Given the description of an element on the screen output the (x, y) to click on. 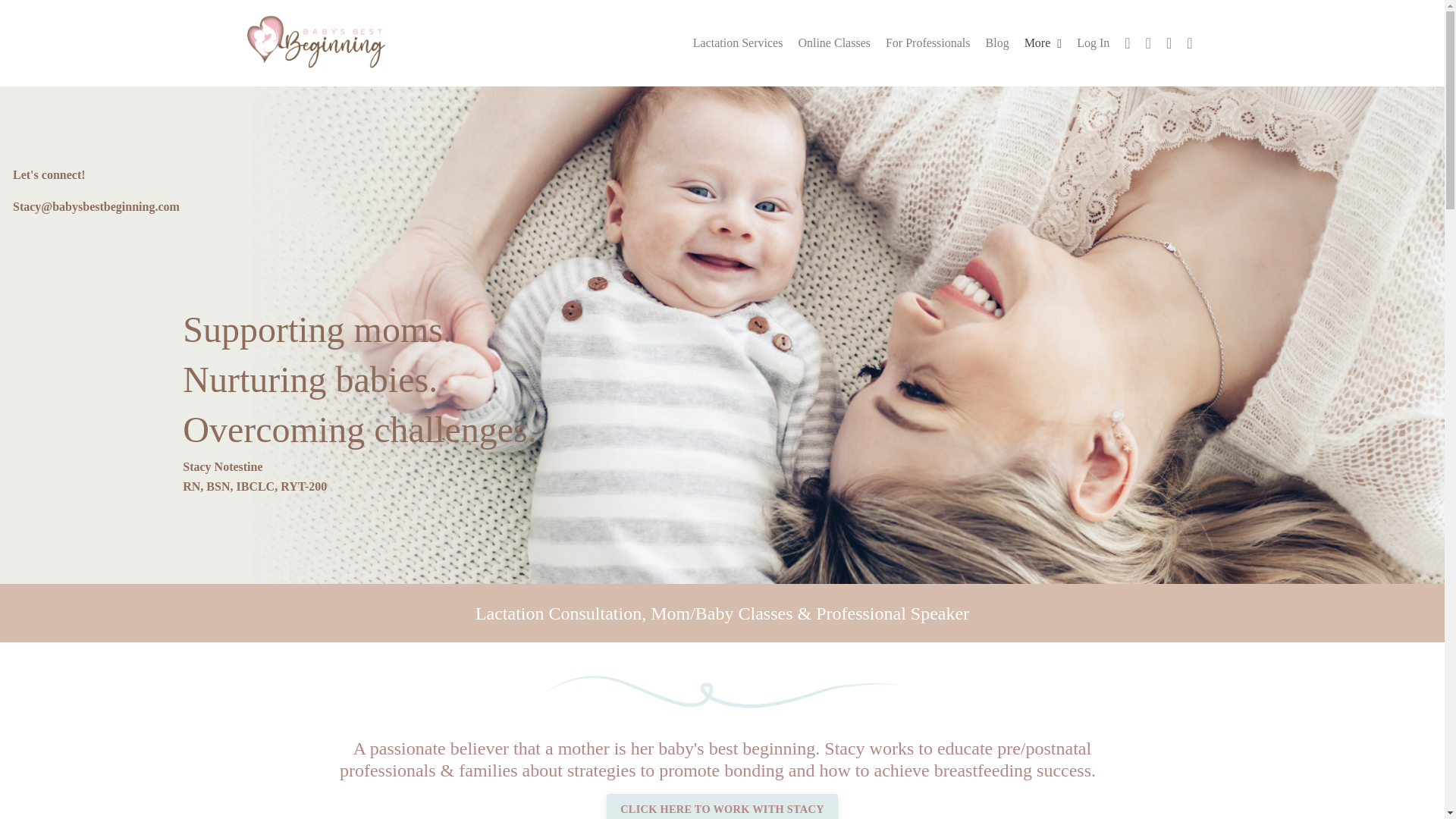
More (1043, 43)
For Professionals (928, 43)
Online Classes (833, 43)
Blog (997, 43)
CLICK HERE TO WORK WITH STACY (722, 806)
Lactation Services (738, 43)
Log In (1093, 42)
